Given the description of an element on the screen output the (x, y) to click on. 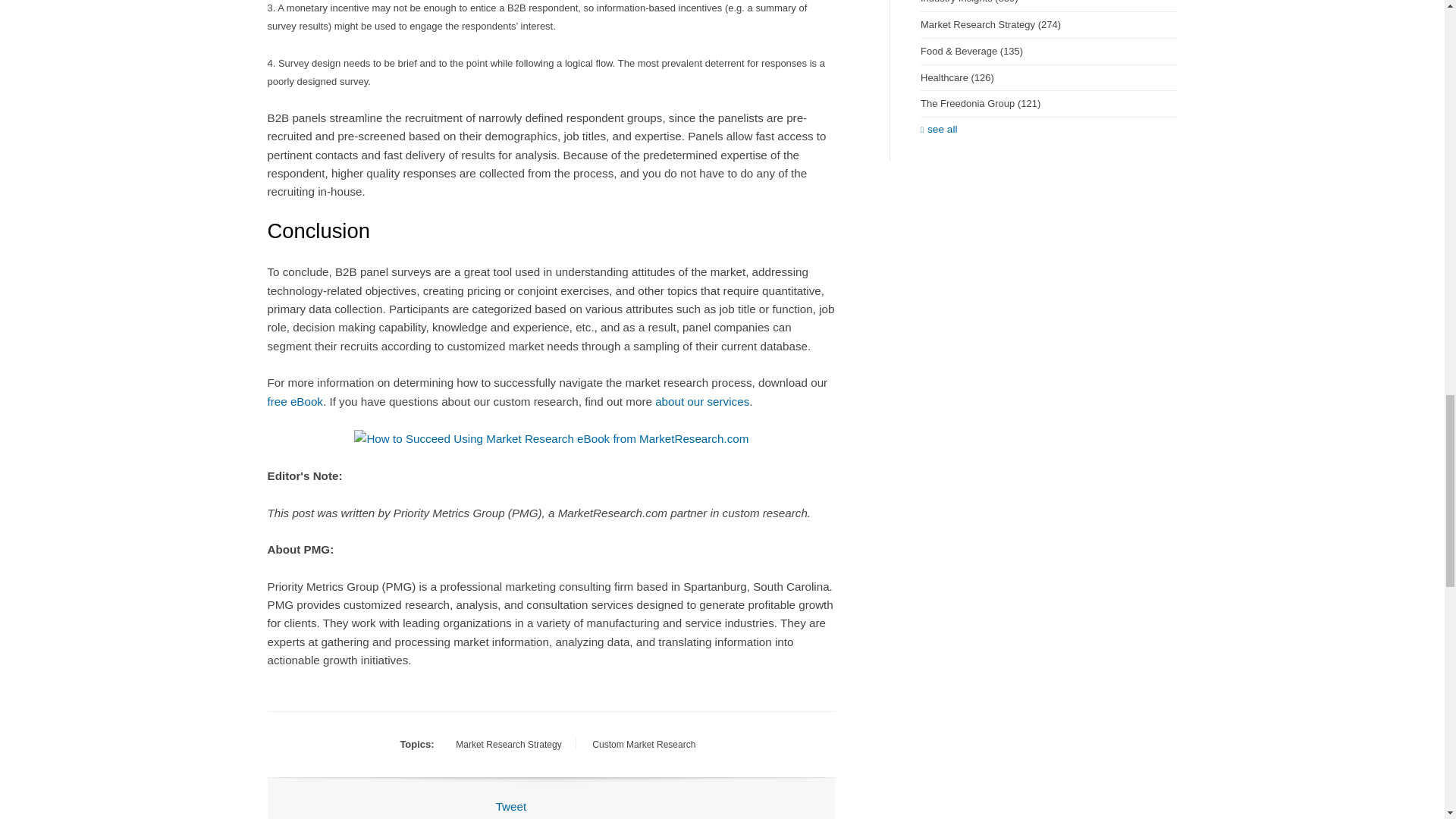
Market Research Strategy (508, 744)
about our services (702, 400)
Tweet (511, 806)
Custom Market Research (644, 744)
free eBook (293, 400)
